Given the description of an element on the screen output the (x, y) to click on. 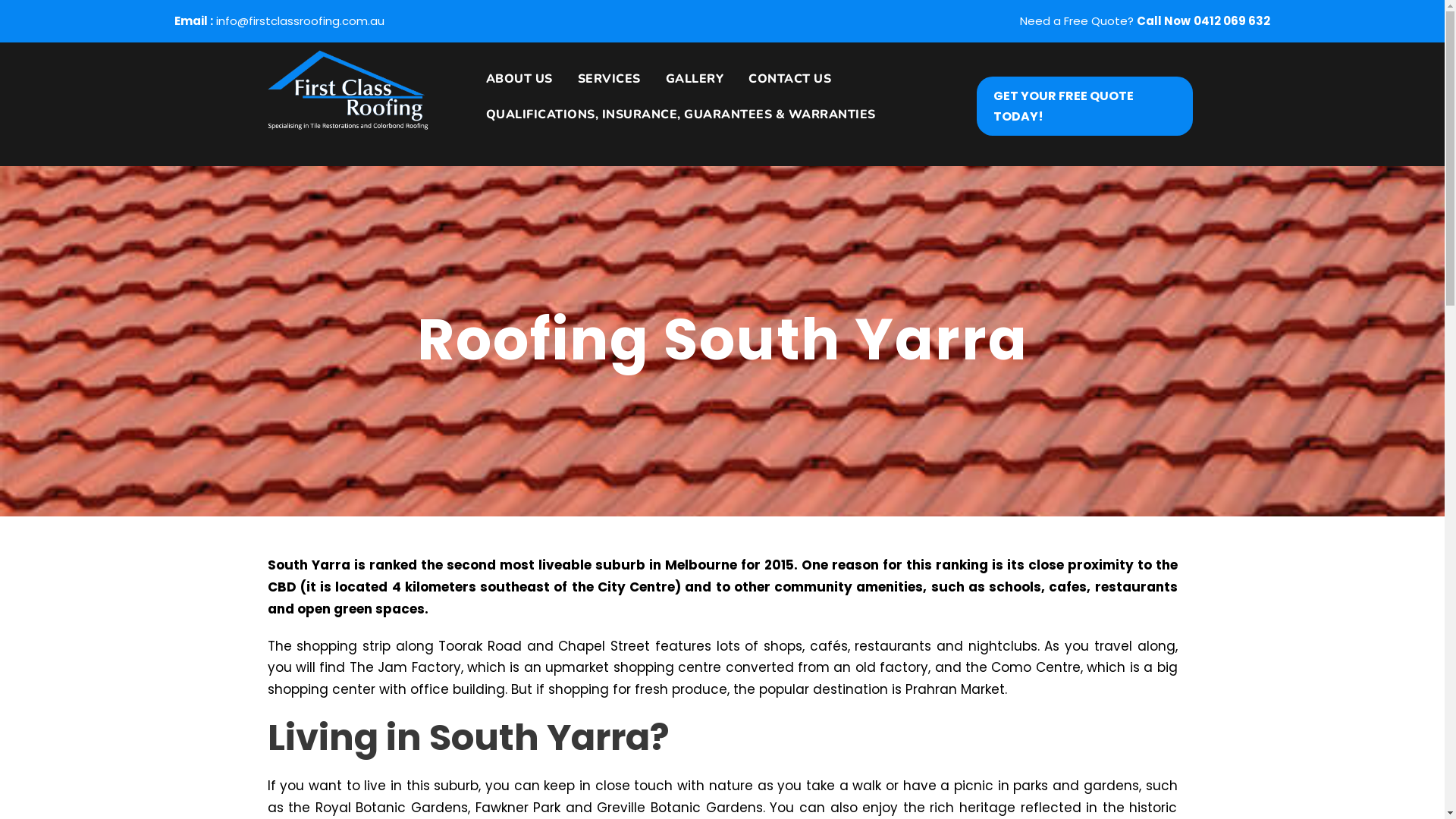
ABOUT US Element type: text (513, 85)
GALLERY Element type: text (689, 85)
QUALIFICATIONS, INSURANCE, GUARANTEES & WARRANTIES Element type: text (674, 122)
CONTACT US Element type: text (784, 85)
GET YOUR FREE QUOTE TODAY! Element type: text (1084, 104)
logo Element type: hover (346, 90)
0412 069 632 Element type: text (1231, 20)
info@firstclassroofing.com.au Element type: text (300, 20)
SERVICES Element type: text (603, 85)
